Given the description of an element on the screen output the (x, y) to click on. 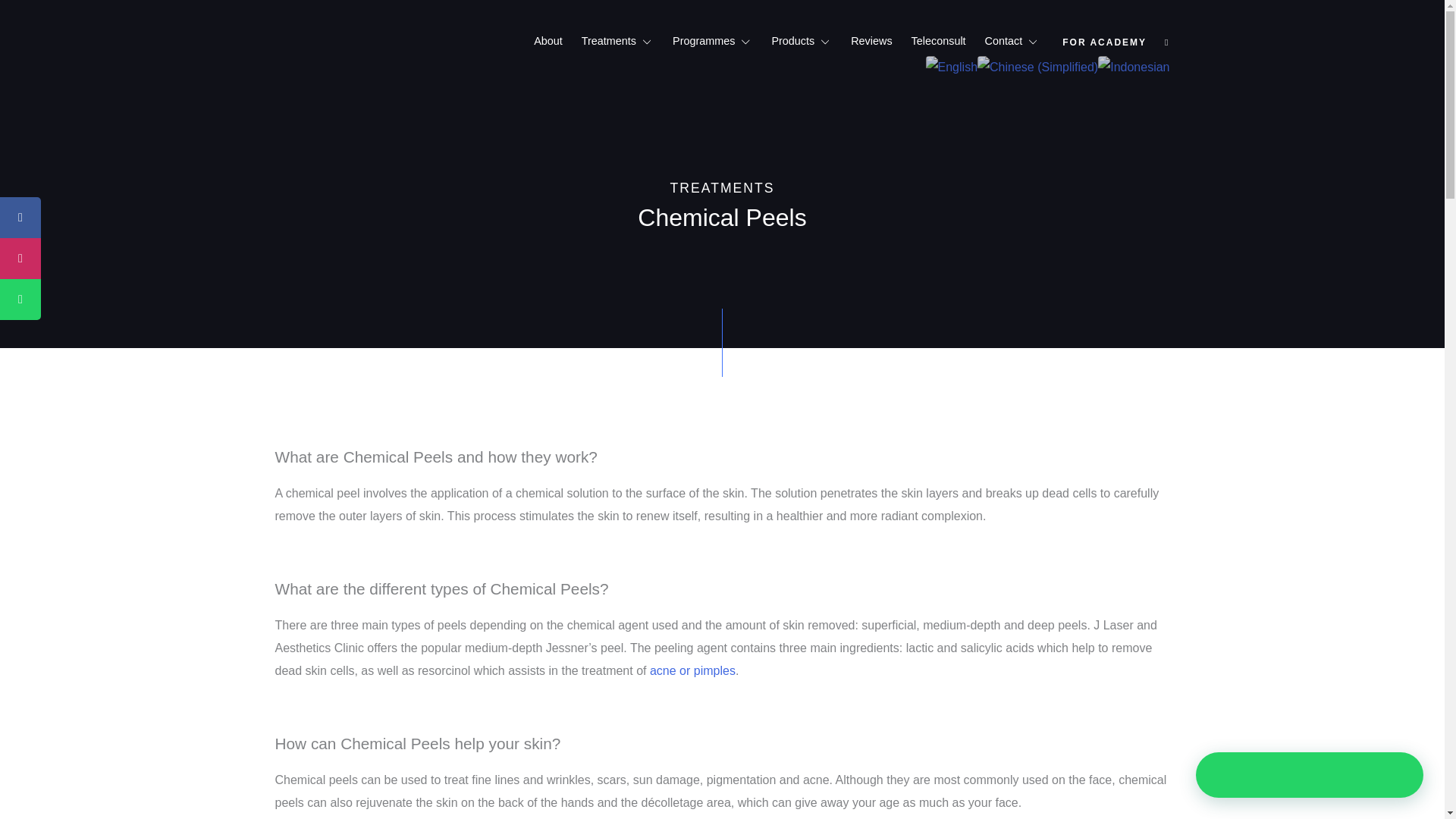
Indonesian (1133, 65)
Treatments (608, 41)
English (951, 65)
About (548, 41)
